Given the description of an element on the screen output the (x, y) to click on. 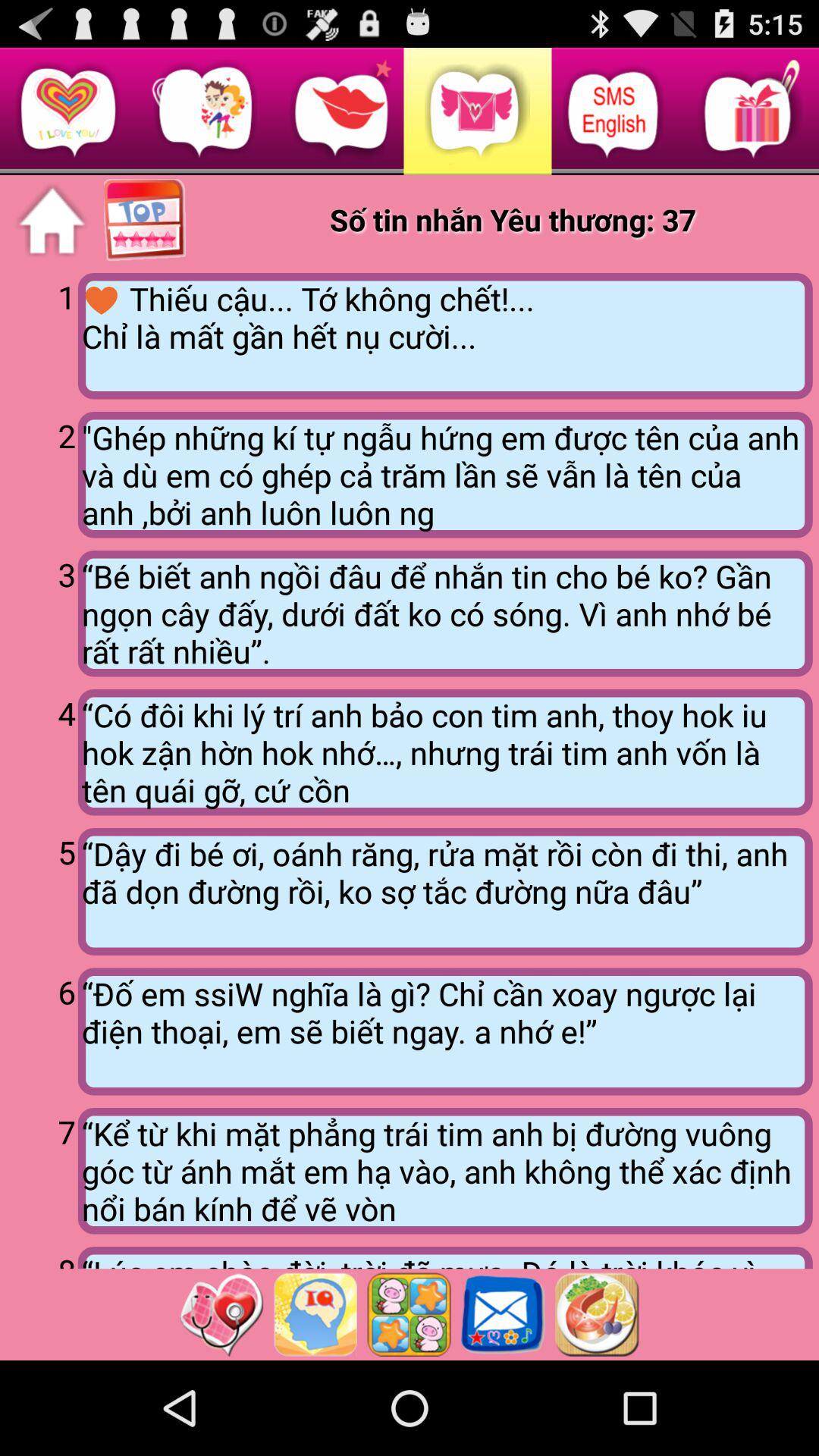
flip to 5 icon (41, 889)
